Given the description of an element on the screen output the (x, y) to click on. 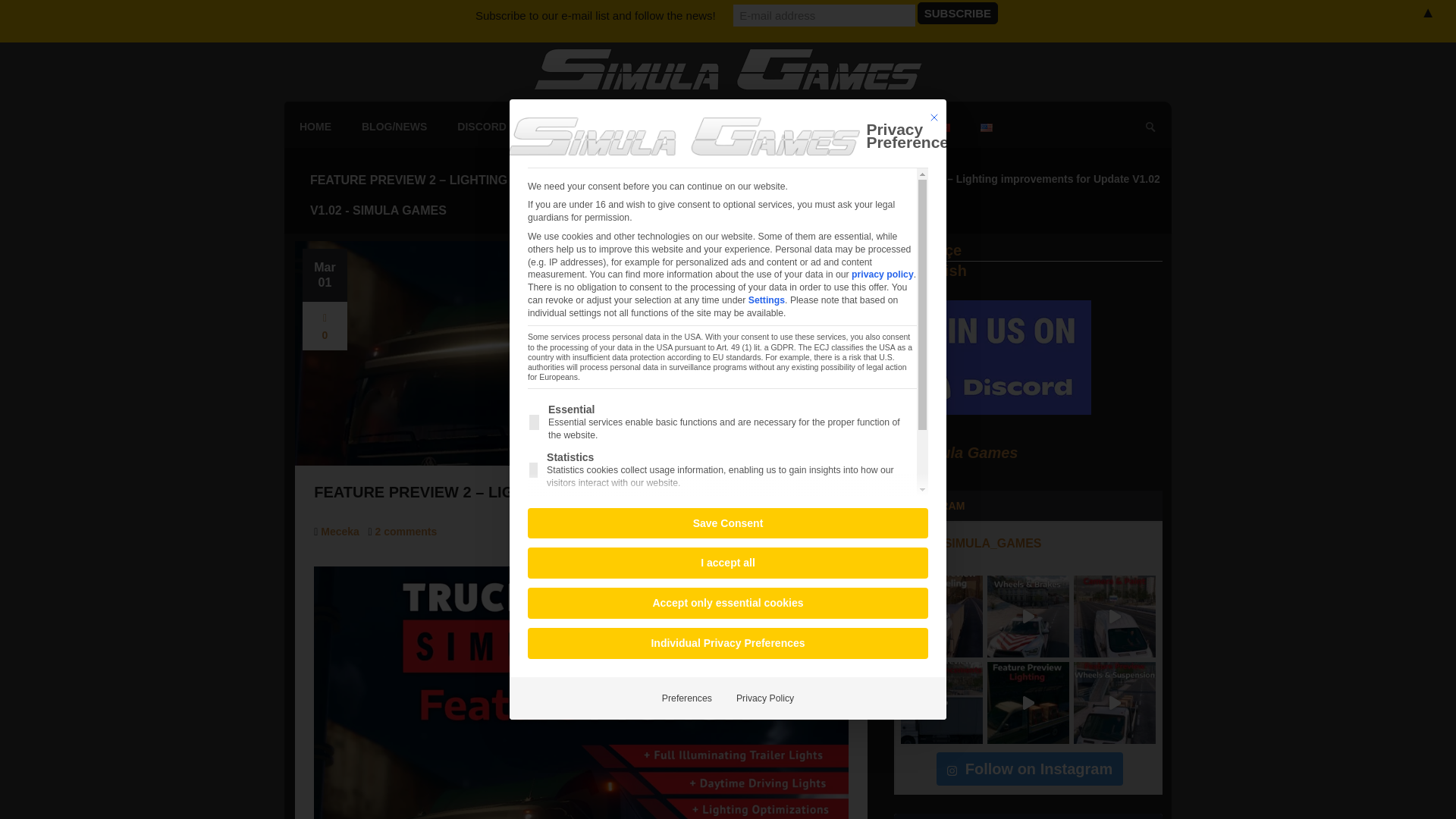
Love this (324, 326)
CAREERS (647, 127)
ROADMAP (564, 127)
FORUMS (726, 127)
Meceka (339, 531)
0 (324, 326)
PRESS (885, 127)
English (930, 272)
Search (15, 13)
2 comments (406, 531)
